Given the description of an element on the screen output the (x, y) to click on. 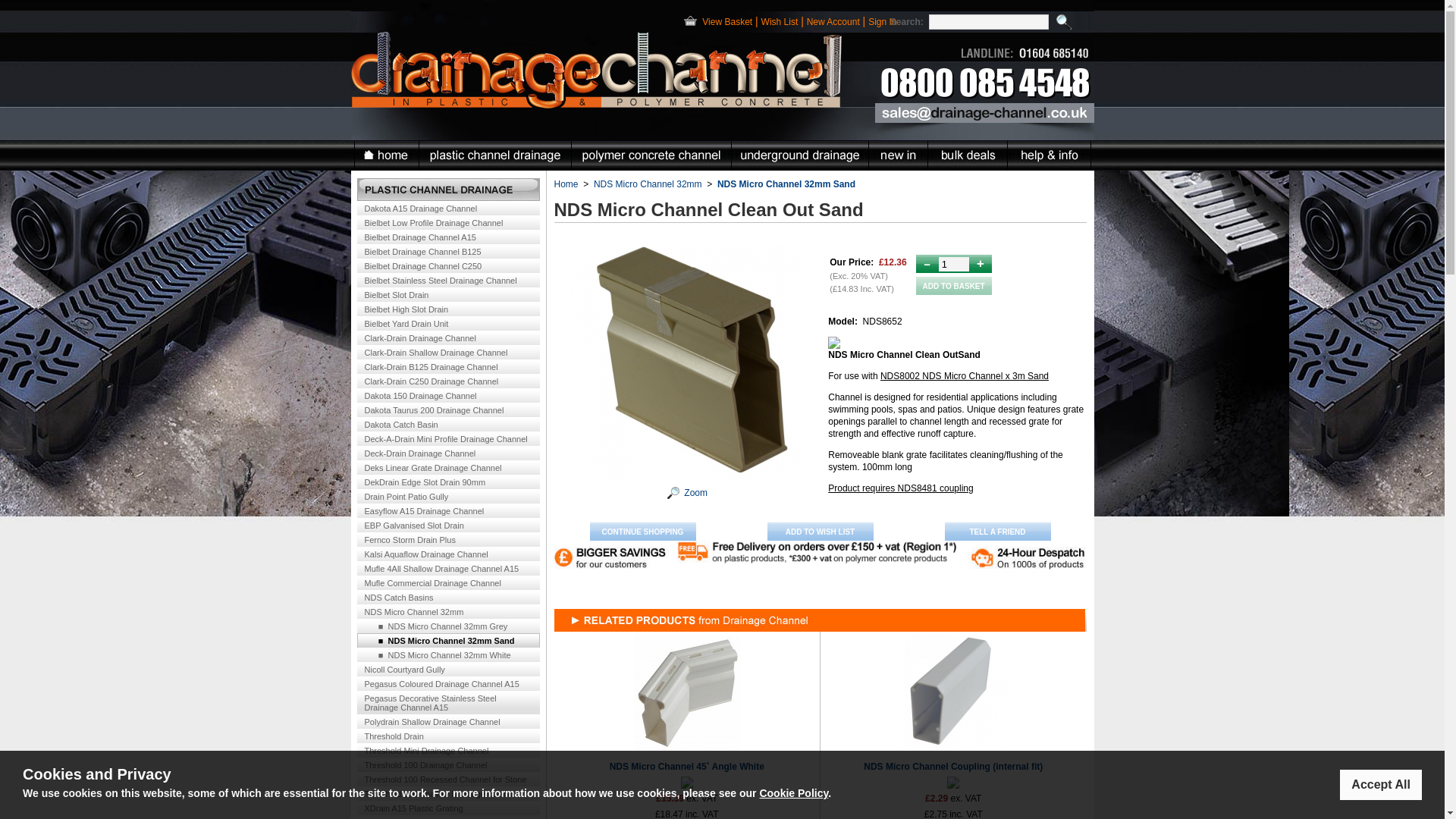
Clark-Drain Shallow Drainage Channel (447, 351)
Bielbet Low Profile Drainage Channel (447, 222)
Deks Linear Grate Drainage Channel (447, 467)
NDS Micro Channel 32mm (447, 611)
Mufle 4All Shallow Drainage Channel A15 (447, 568)
Bielbet Drainage Channel C250 (447, 265)
Threshold 100 Recessed Channel for Stone (447, 779)
Deck-Drain Drainage Channel (447, 452)
Threshold 100 Drainage Channel (447, 764)
Threshold 100 Shallow Drainage Channel (447, 793)
Bielbet Drainage Channel B125 (447, 251)
Fernco Storm Drain Plus (447, 539)
Deck-A-Drain Mini Profile Drainage Channel (447, 438)
Clark-Drain Drainage Channel (447, 337)
Dakota Catch Basin (447, 423)
